Given the description of an element on the screen output the (x, y) to click on. 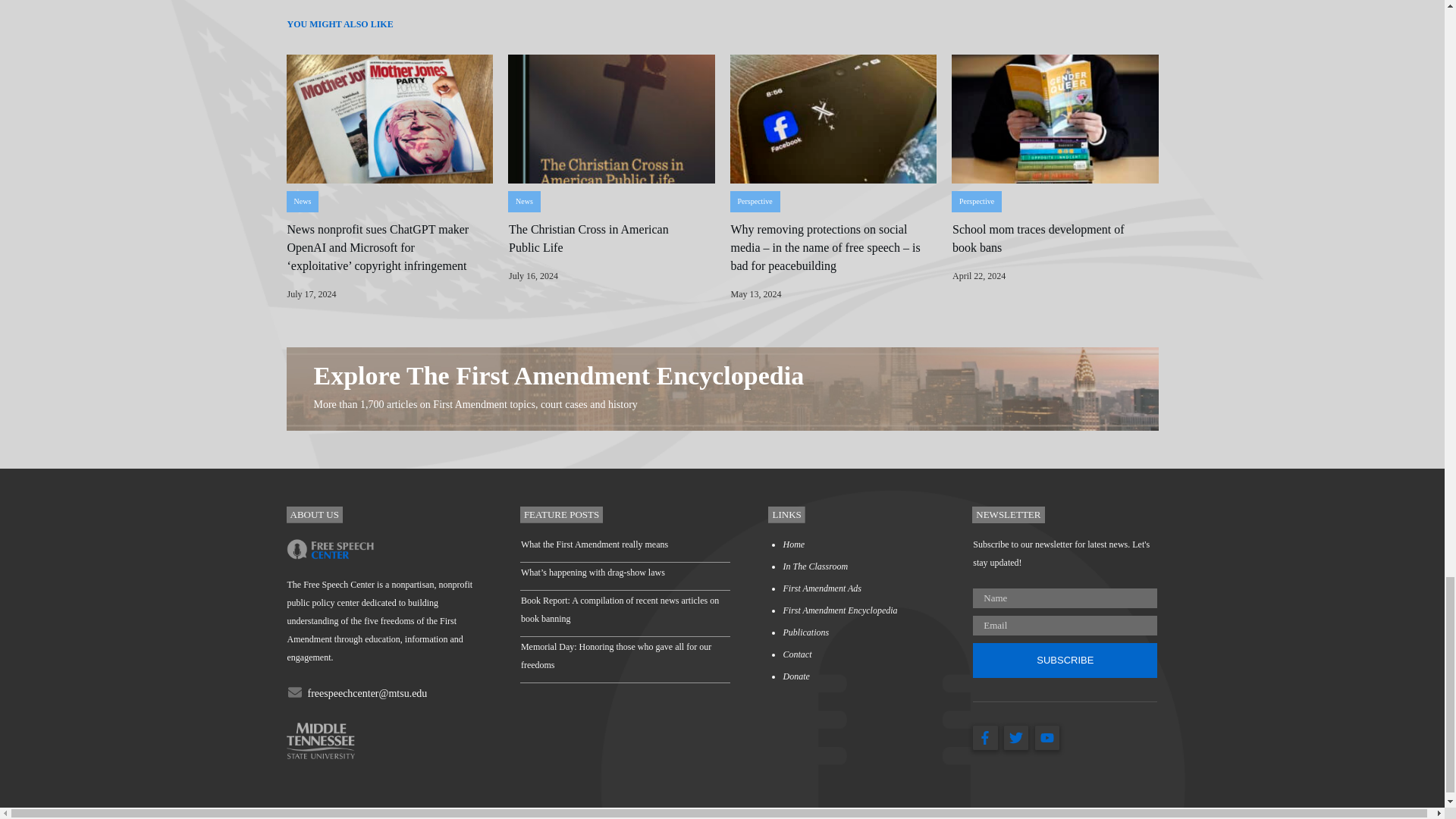
Memorial Day: Honoring those who gave all for our freedoms (616, 654)
What the First Amendment really means (594, 543)
Footer logo (330, 547)
First Amendment Encyclopedia (839, 609)
Perspective (753, 201)
News (302, 201)
News (523, 201)
The Christian Cross in American Public Life (588, 237)
Perspective (976, 201)
Perspective (753, 201)
What the First Amendment really means (594, 543)
The Christian Cross in American Public Life (588, 237)
School mom traces development of book bans (1038, 237)
News (523, 201)
middletennstate logo (320, 740)
